Given the description of an element on the screen output the (x, y) to click on. 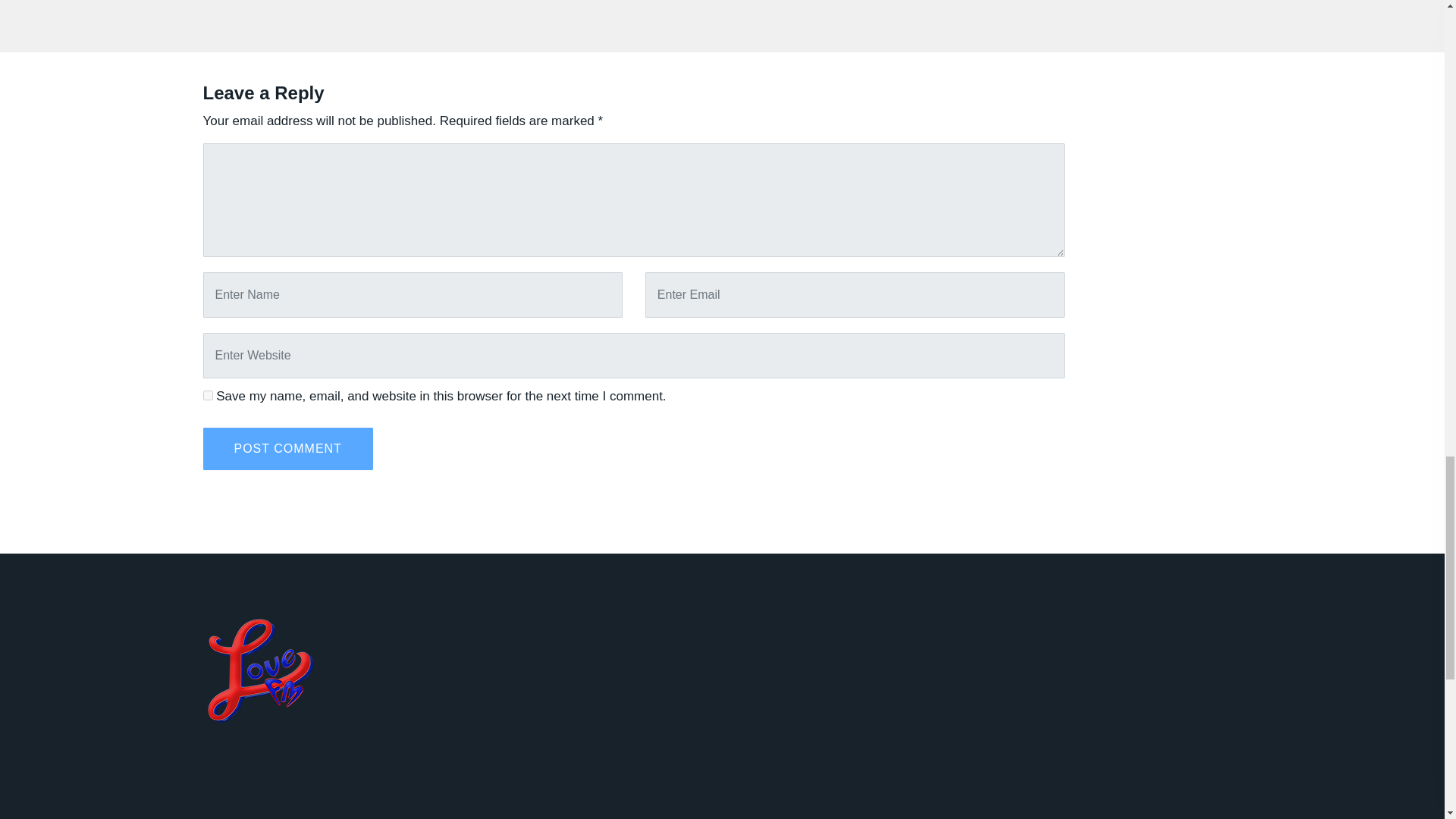
Post Comment (287, 448)
yes (207, 395)
